Given the description of an element on the screen output the (x, y) to click on. 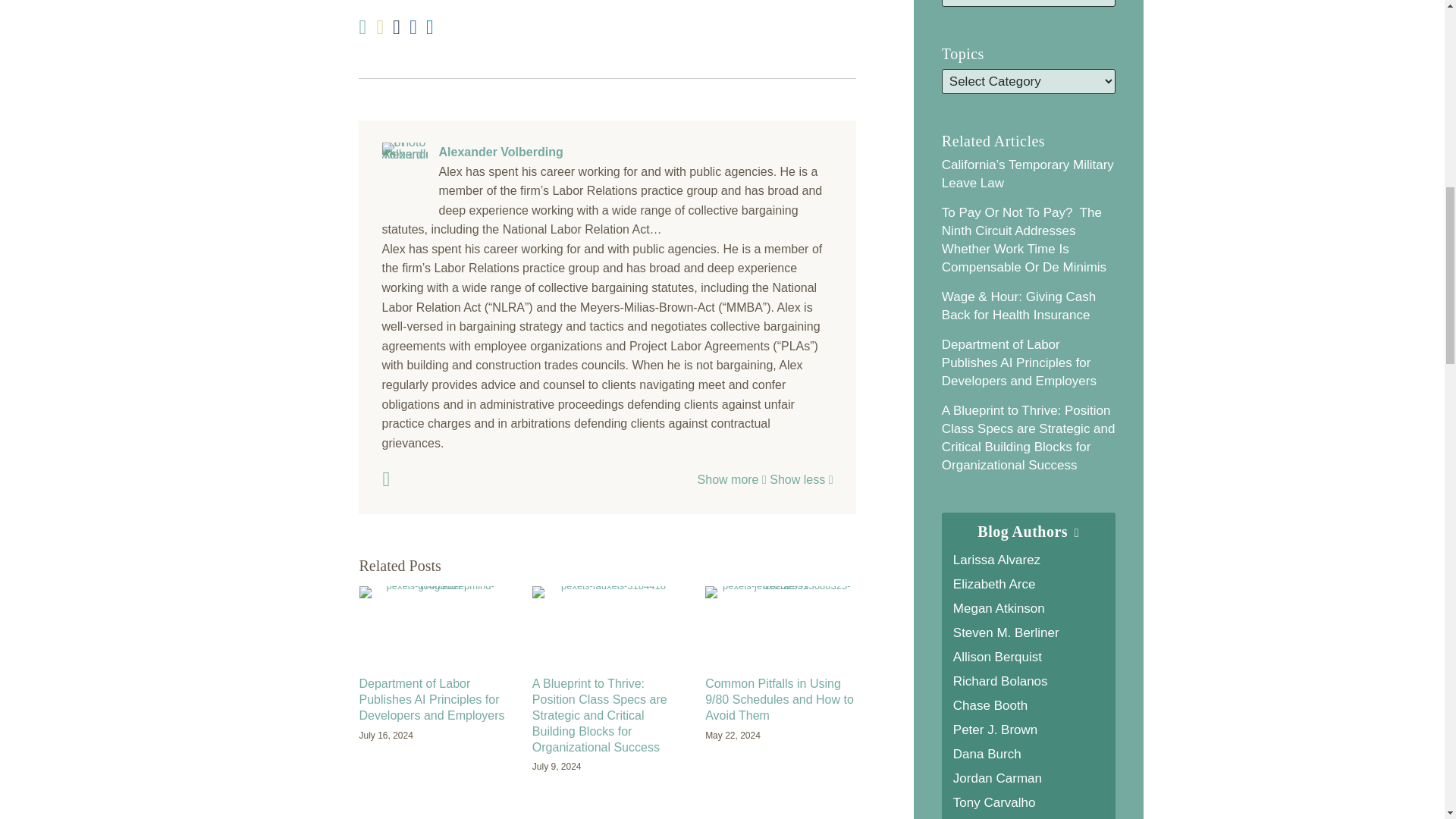
Show more (732, 479)
Alexander Volberding (606, 152)
Show less (801, 479)
